Given the description of an element on the screen output the (x, y) to click on. 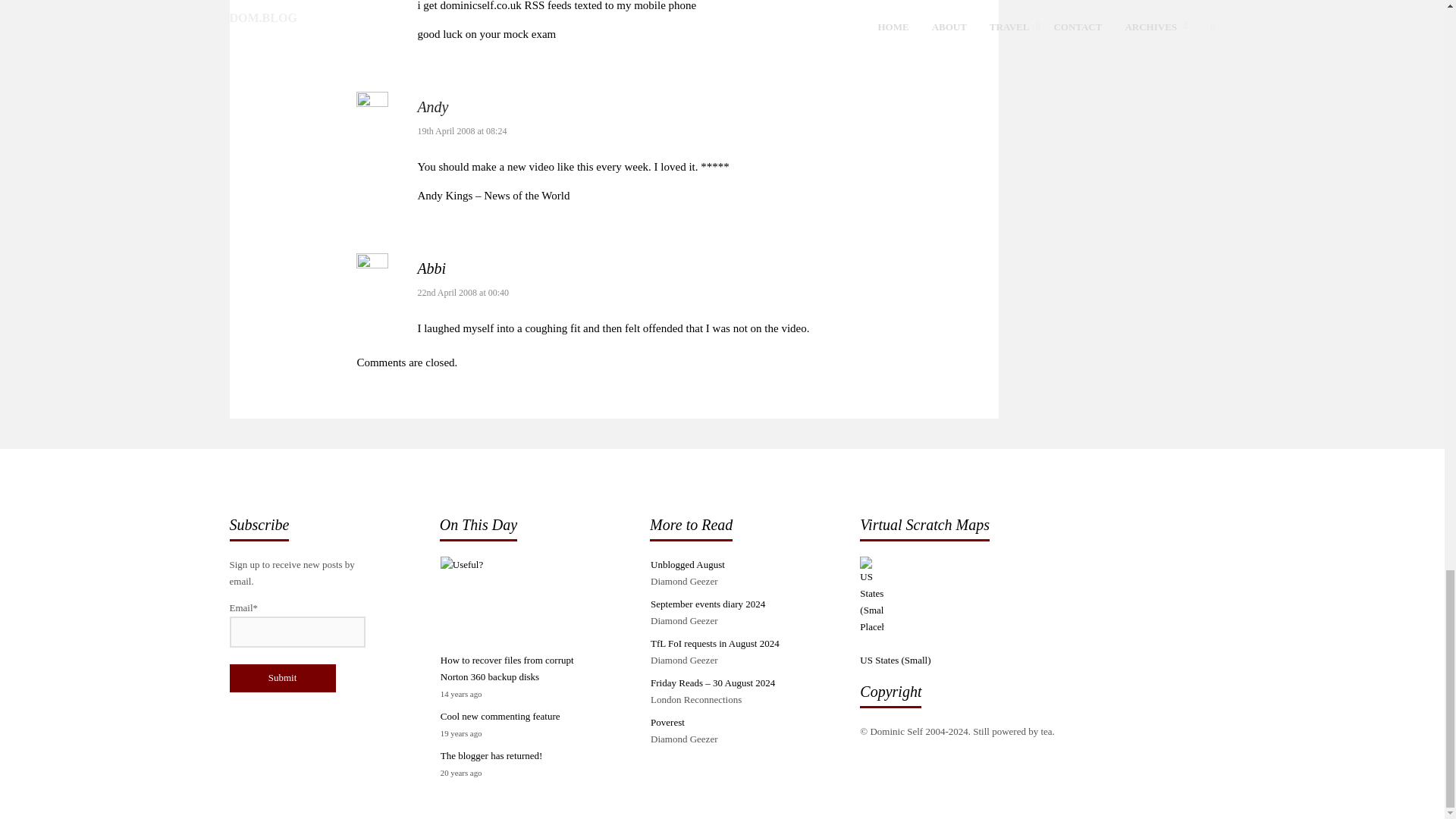
19th April 2008 at 08:24 (461, 131)
Virtual Scratch Maps (1037, 612)
22nd April 2008 at 00:40 (462, 292)
Submit (281, 678)
Abbi (430, 268)
